Given the description of an element on the screen output the (x, y) to click on. 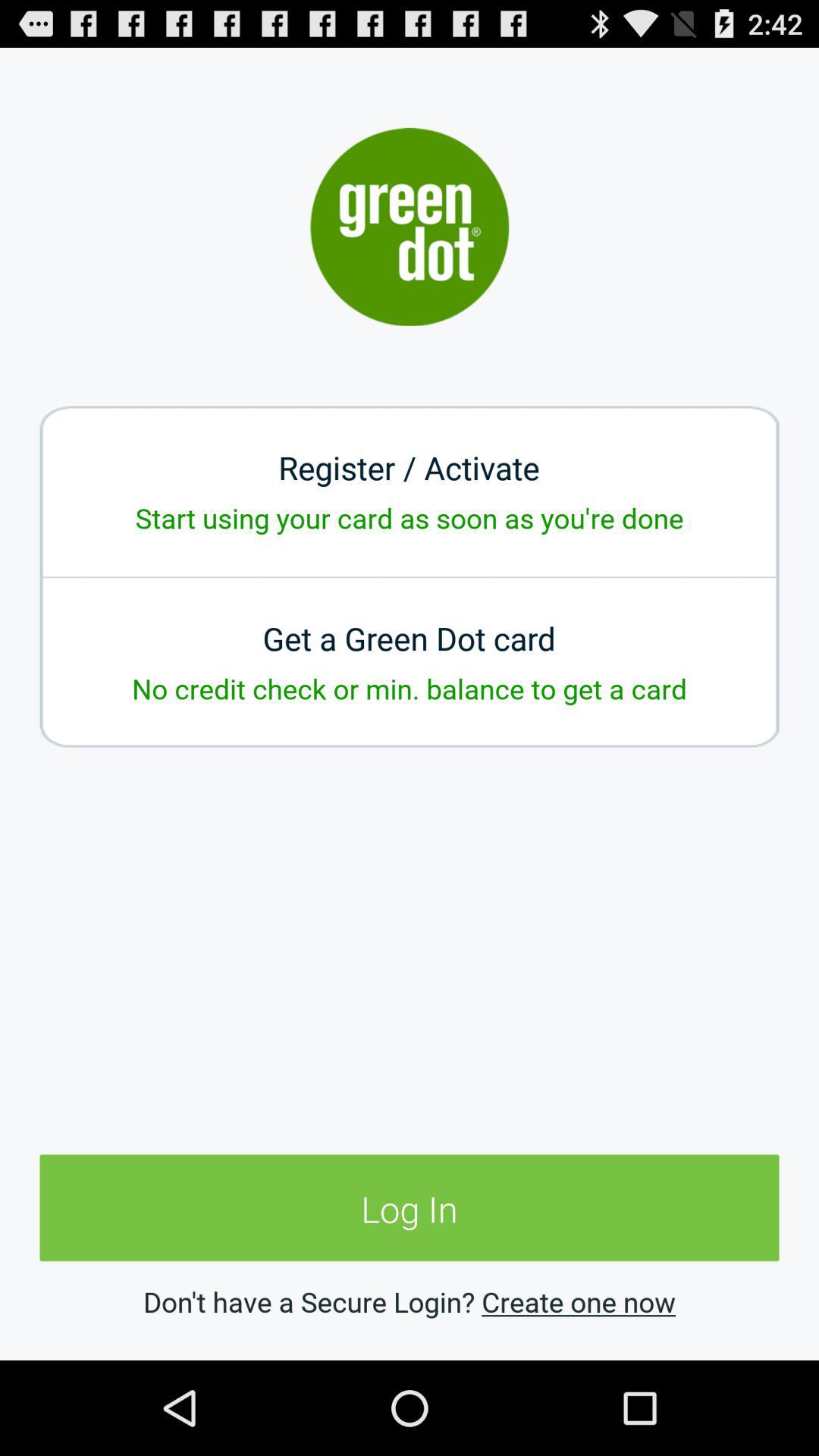
open the item above don t have app (409, 1208)
